Given the description of an element on the screen output the (x, y) to click on. 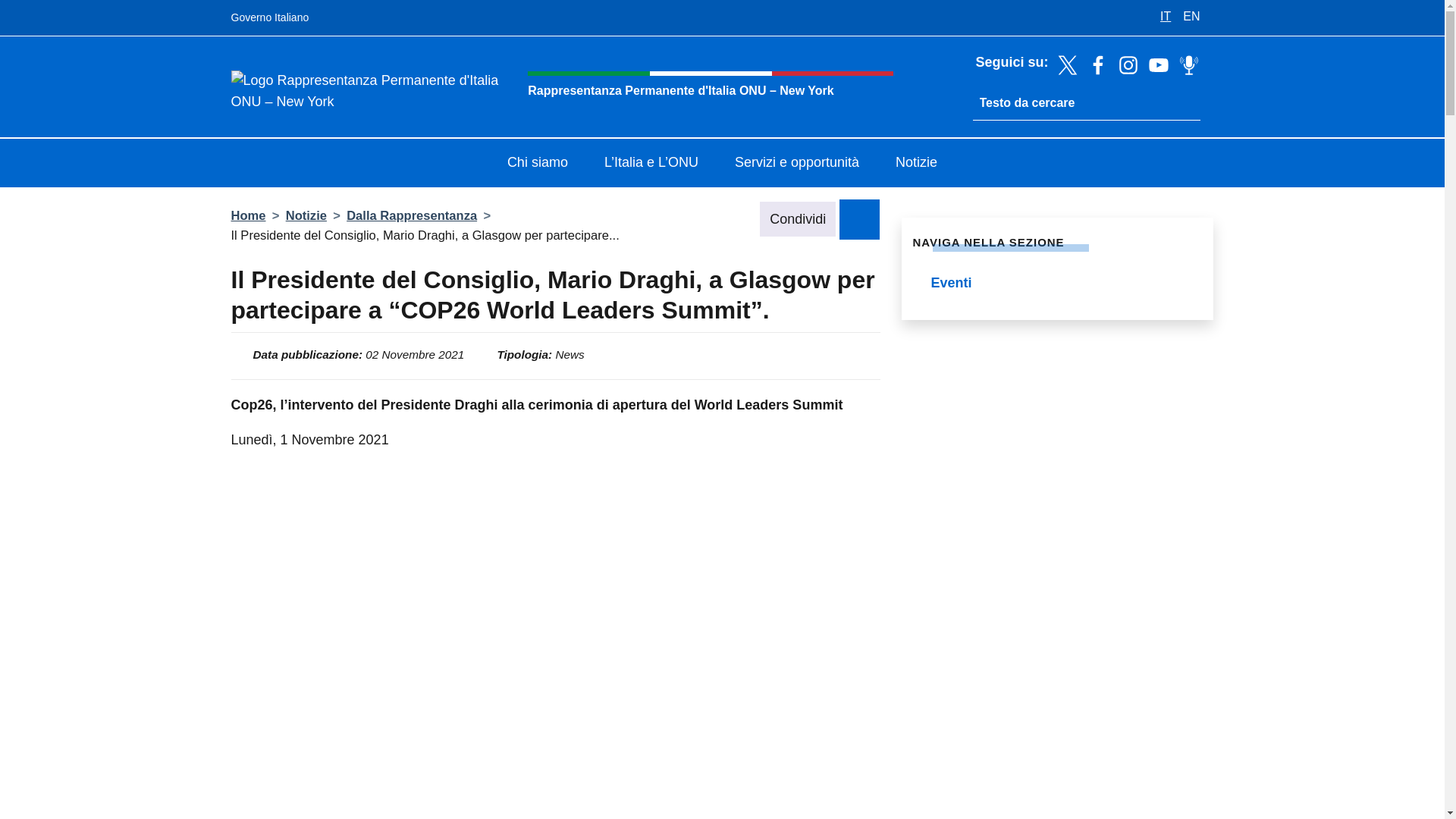
YouTube video player (554, 653)
Governo Italiano (269, 18)
Condividi sui Social Network (859, 218)
Condividi sui Social Network (859, 218)
Notizie (916, 163)
Chi siamo (537, 163)
Home (247, 215)
Eventi (1057, 282)
Eventi (1057, 282)
Dalla Rappresentanza (411, 215)
